Given the description of an element on the screen output the (x, y) to click on. 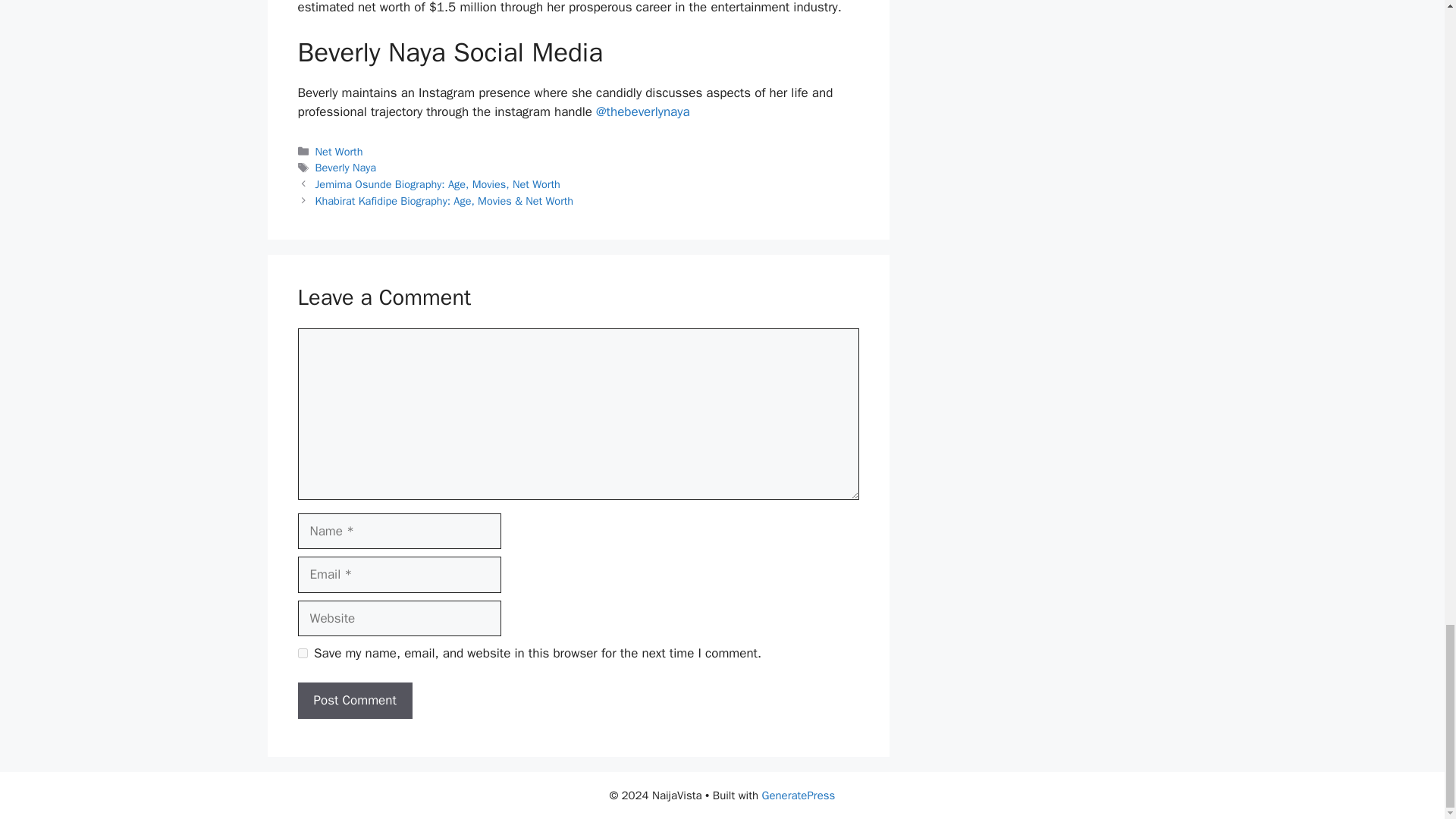
Beverly Naya (345, 167)
Jemima Osunde Biography: Age, Movies, Net Worth (437, 183)
Net Worth (338, 151)
yes (302, 653)
Post Comment (354, 700)
GeneratePress (798, 795)
Post Comment (354, 700)
